Given the description of an element on the screen output the (x, y) to click on. 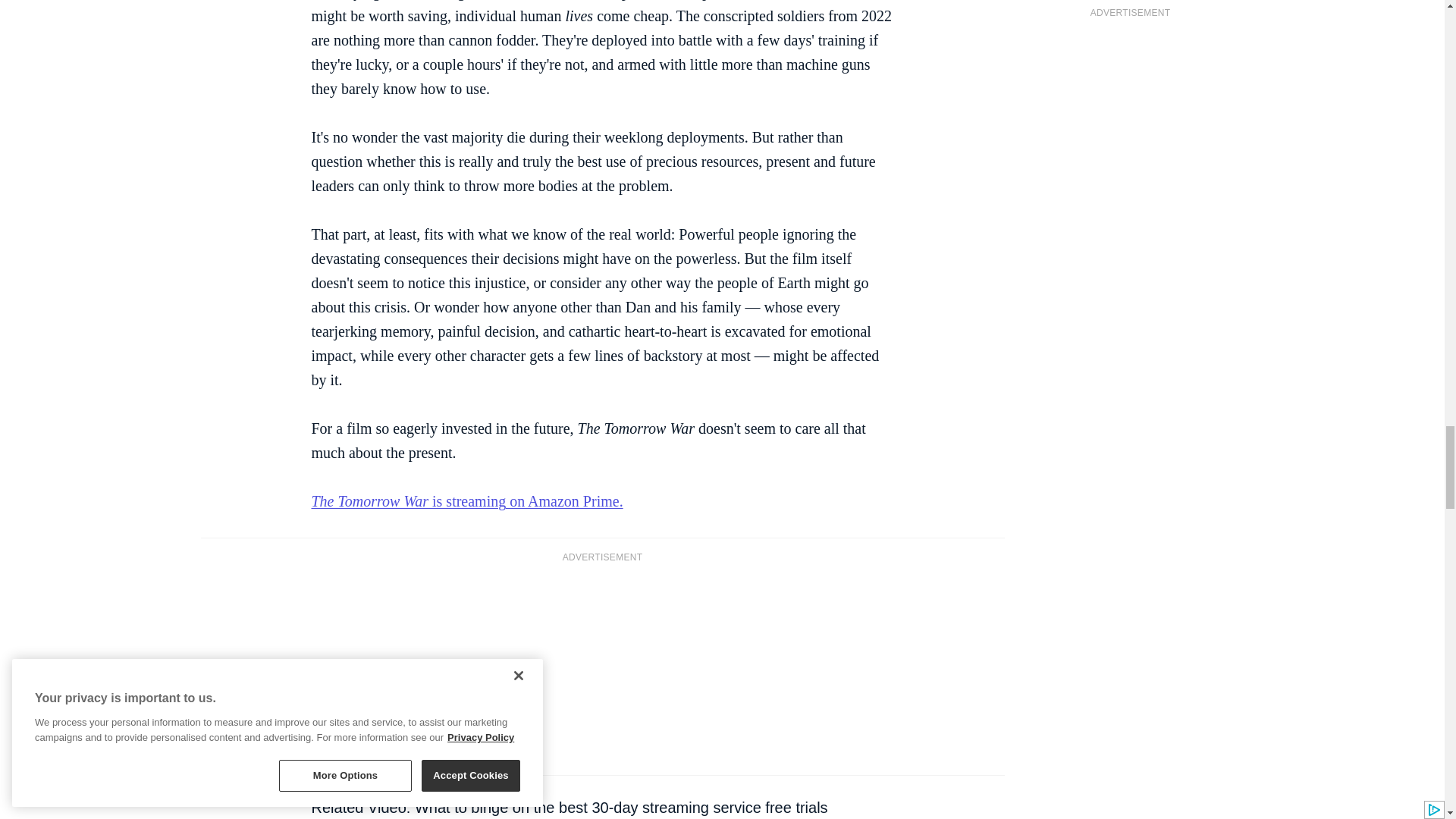
3rd party ad content (601, 667)
